Given the description of an element on the screen output the (x, y) to click on. 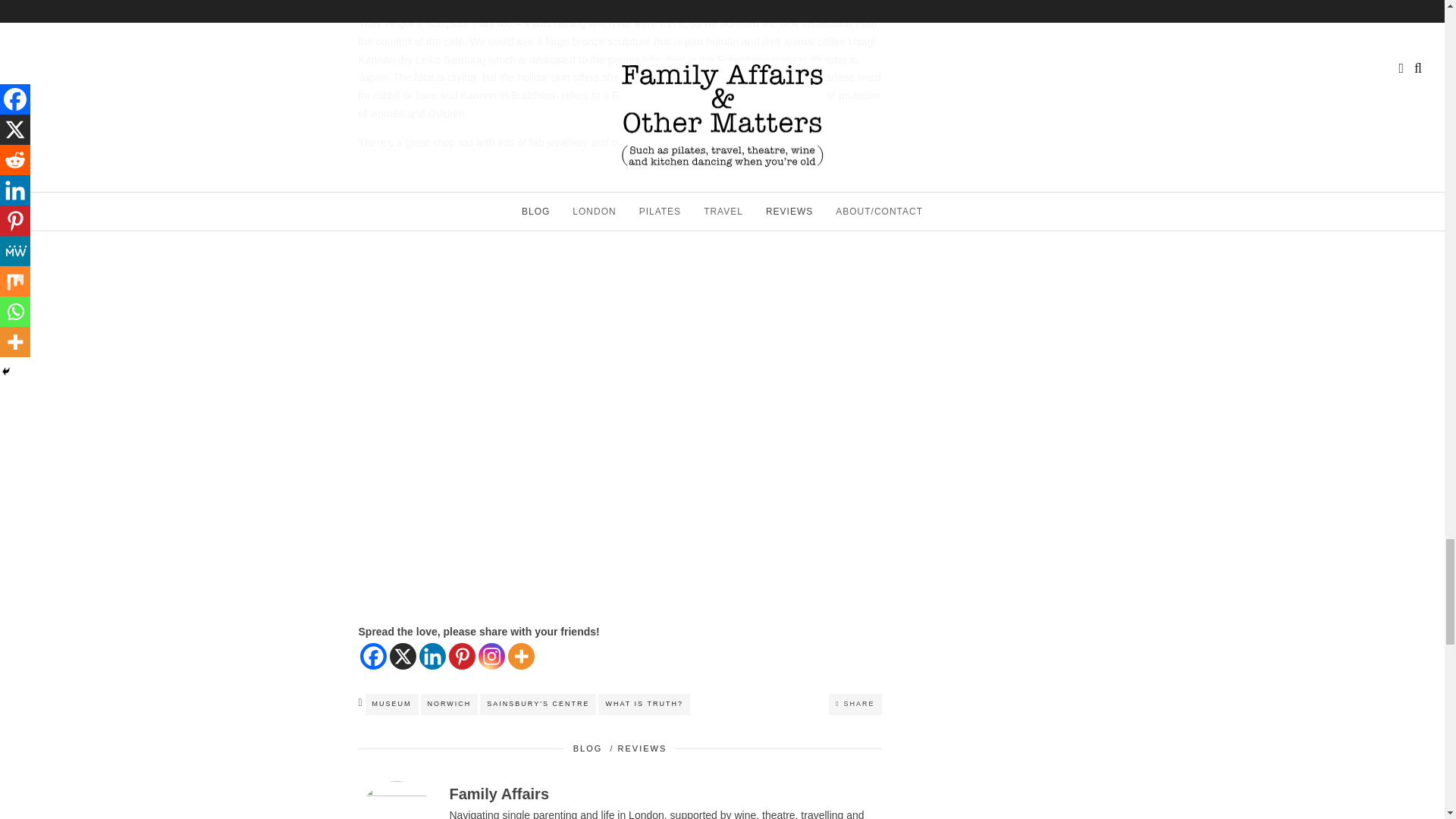
Linkedin (432, 655)
WHAT IS TRUTH? (644, 703)
X (403, 655)
Pinterest (462, 655)
NORWICH (449, 703)
BLOG (587, 747)
MUSEUM (392, 703)
Facebook (372, 655)
More (521, 655)
SAINSBURY'S CENTRE (537, 703)
Instagram (490, 655)
